Given the description of an element on the screen output the (x, y) to click on. 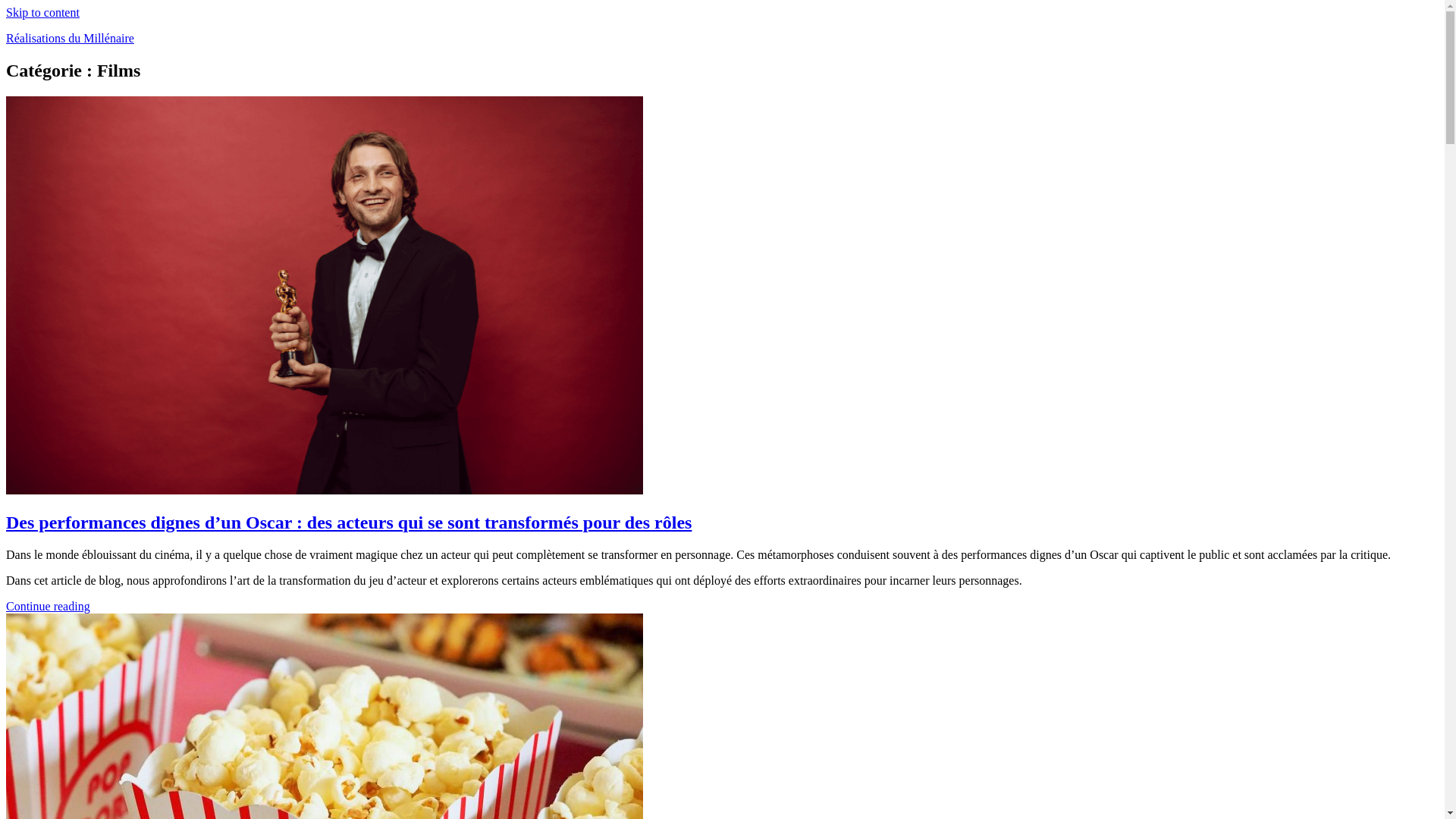
Continue reading Element type: text (48, 605)
Skip to content Element type: text (42, 12)
